Given the description of an element on the screen output the (x, y) to click on. 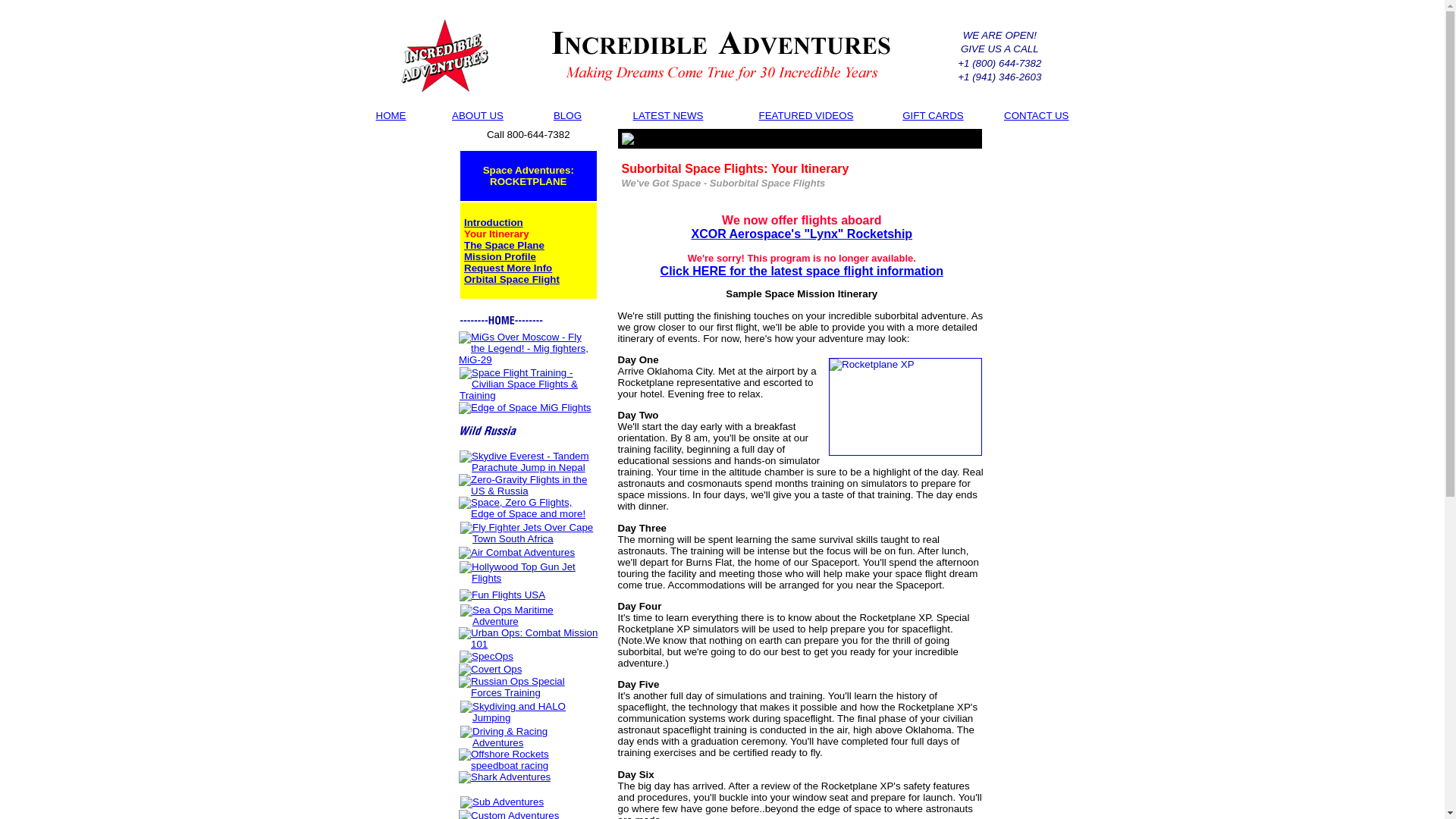
HOME (390, 115)
Click HERE for the latest space flight information (802, 270)
Request More Info (507, 267)
Fly MiGs (528, 348)
XCOR Aerospace's "Lynx" Rocketship (801, 233)
Return to the home page (444, 55)
Orbital Space Flight (511, 279)
BLOG (566, 115)
Mission Profile (499, 256)
GIFT CARDS (932, 115)
FEATURED VIDEOS (805, 115)
ABOUT US (477, 115)
CONTACT US (1036, 115)
LATEST NEWS (668, 115)
The Space Plane (504, 244)
